Given the description of an element on the screen output the (x, y) to click on. 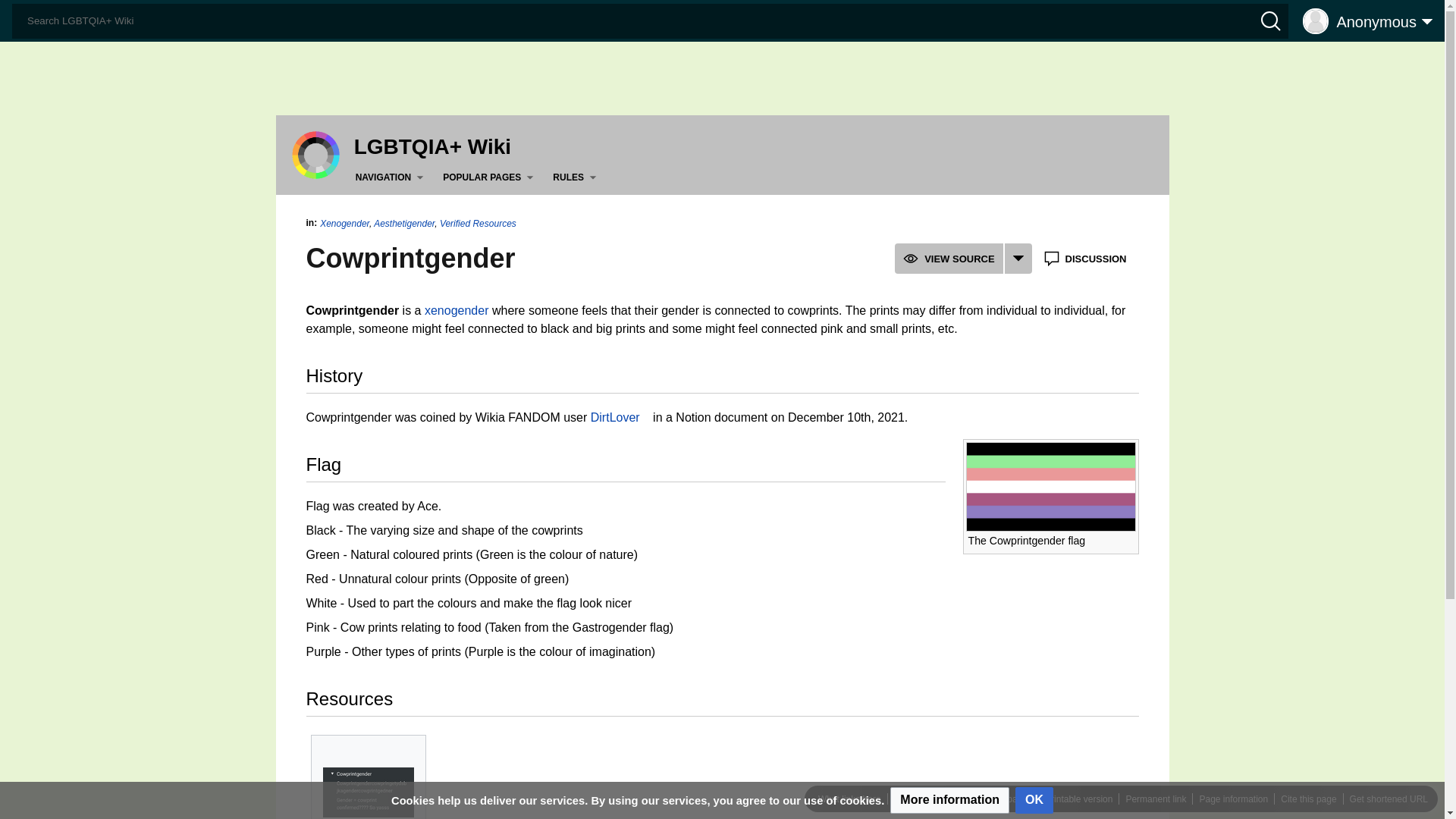
Go (16, 13)
Xenogender (457, 309)
POPULAR PAGES (490, 177)
Original document. (368, 792)
RULES (577, 177)
NAVIGATION (392, 177)
Visit the main page (315, 154)
